Given the description of an element on the screen output the (x, y) to click on. 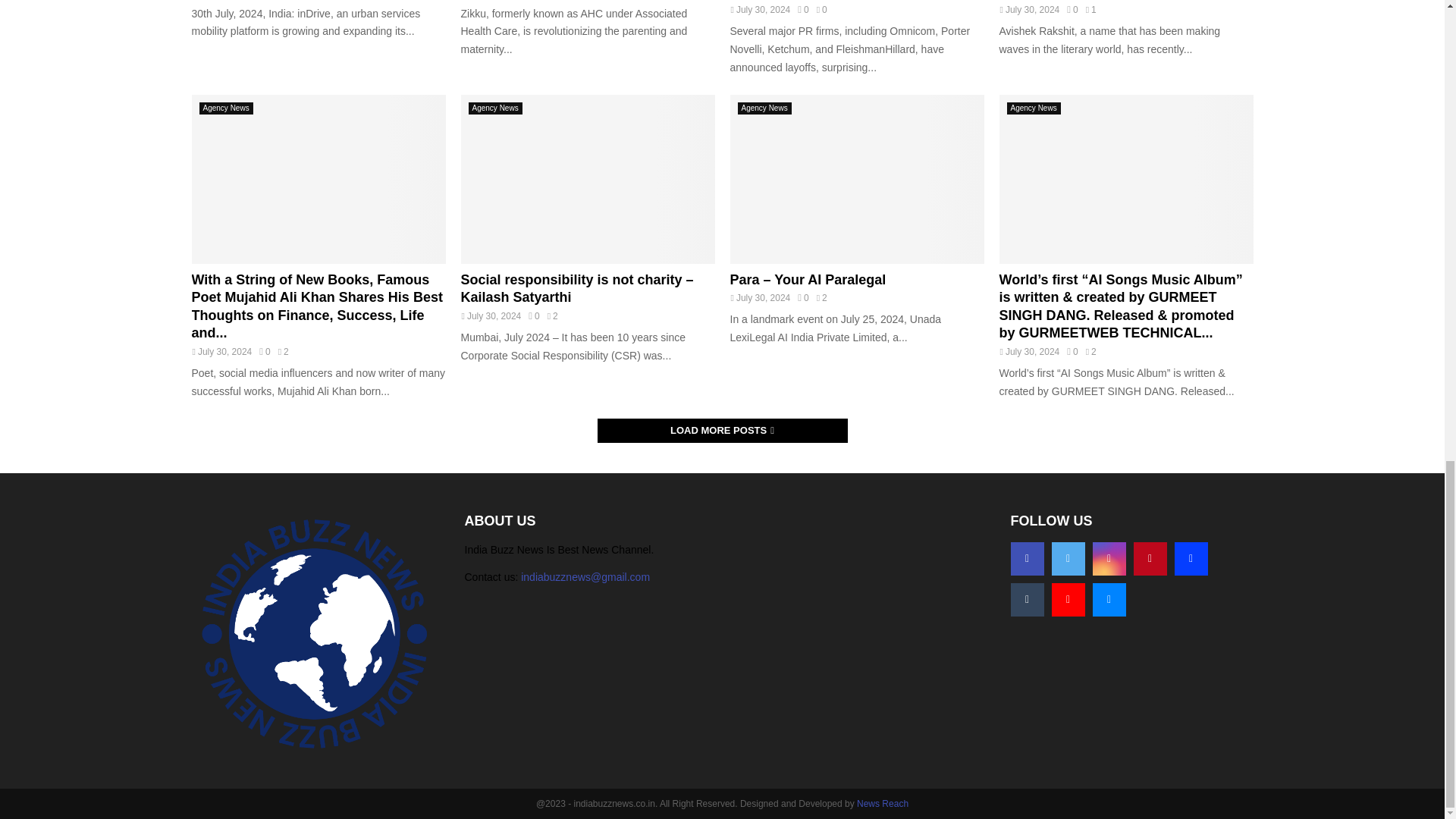
0 (1072, 9)
0 (802, 9)
